Given the description of an element on the screen output the (x, y) to click on. 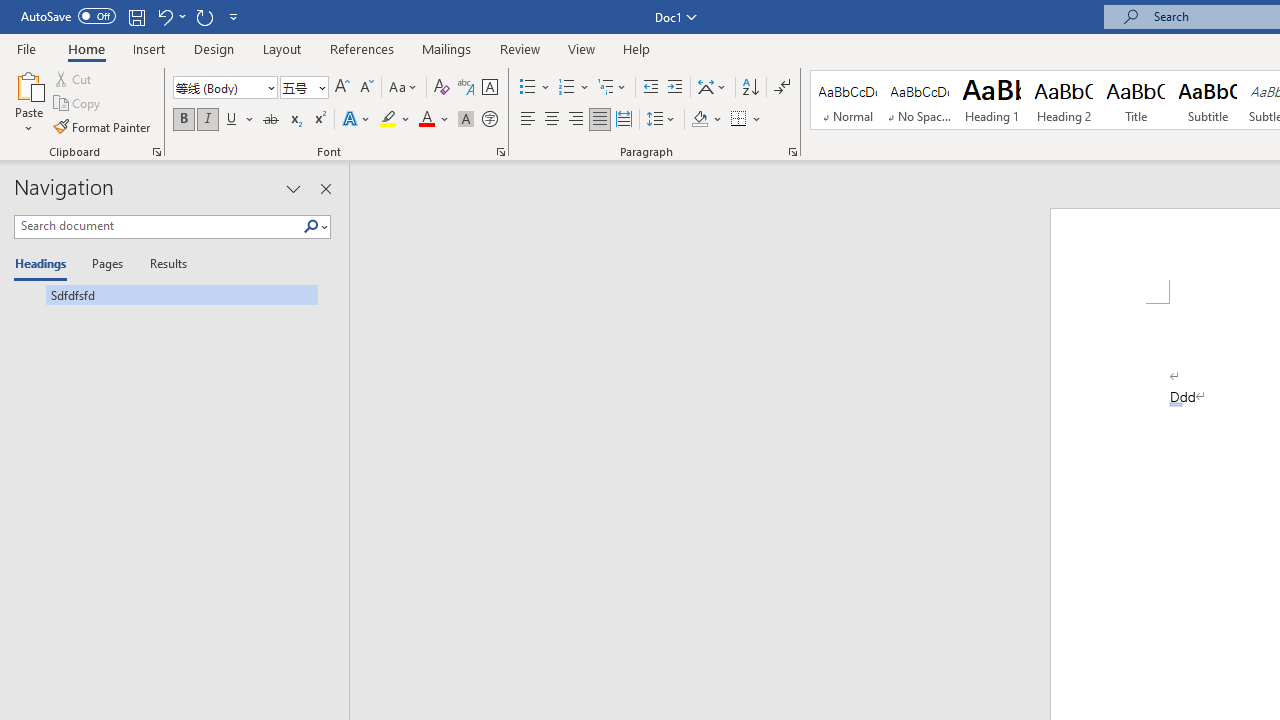
Sdfdfsfd (166, 294)
Text Highlight Color (395, 119)
Quick Access Toolbar (131, 16)
Change Case (404, 87)
Bullets (535, 87)
Task Pane Options (293, 188)
Cut (73, 78)
Decrease Indent (650, 87)
Superscript (319, 119)
Distributed (623, 119)
Search (311, 227)
Align Left (527, 119)
Show/Hide Editing Marks (781, 87)
Paste (28, 84)
Headings (45, 264)
